Given the description of an element on the screen output the (x, y) to click on. 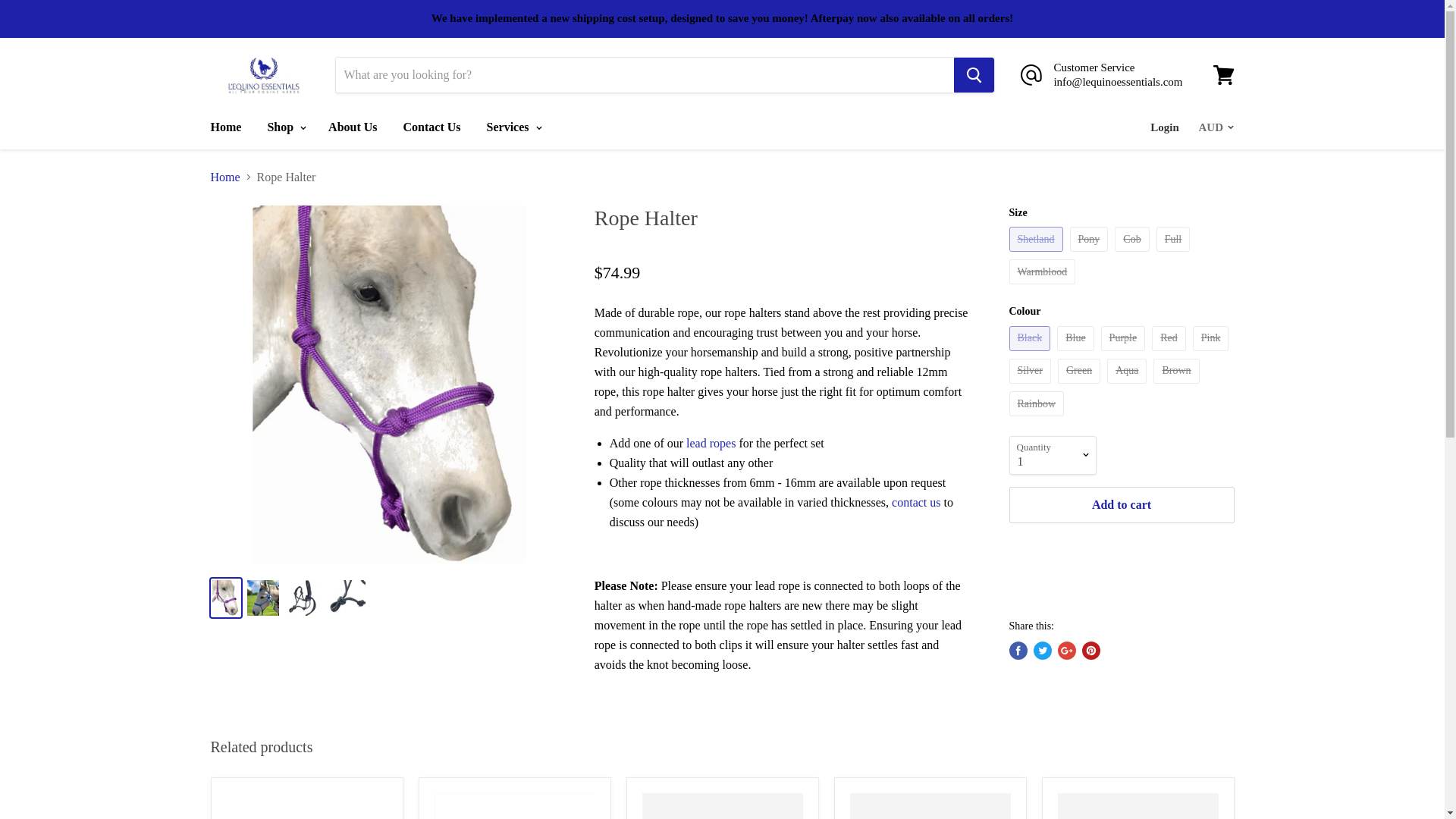
Services (513, 126)
Contact Us (431, 126)
View cart (1223, 74)
Contact Page (915, 502)
Home (224, 126)
Lead Rope Collection (710, 442)
Login (1164, 126)
About Us (352, 126)
Shop (285, 126)
